Given the description of an element on the screen output the (x, y) to click on. 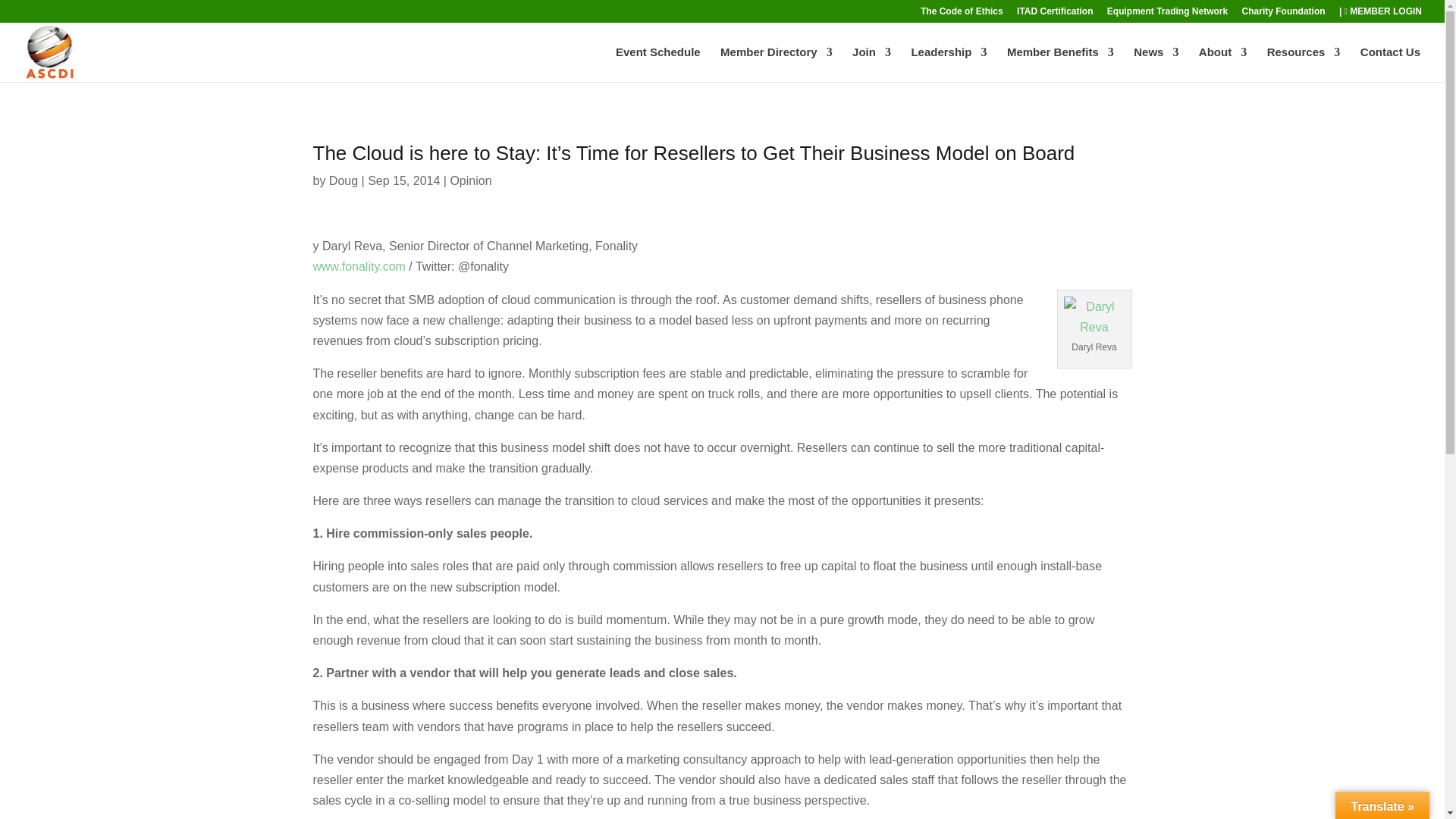
Event Schedule (657, 63)
Join (871, 63)
The Code of Ethics (961, 14)
ITAD Certification (1054, 14)
Posts by Doug (343, 180)
Charity Foundation (1282, 14)
Equipment Trading Network (1166, 14)
Member Directory (776, 63)
Leadership (949, 63)
Member Benefits (1060, 63)
